Given the description of an element on the screen output the (x, y) to click on. 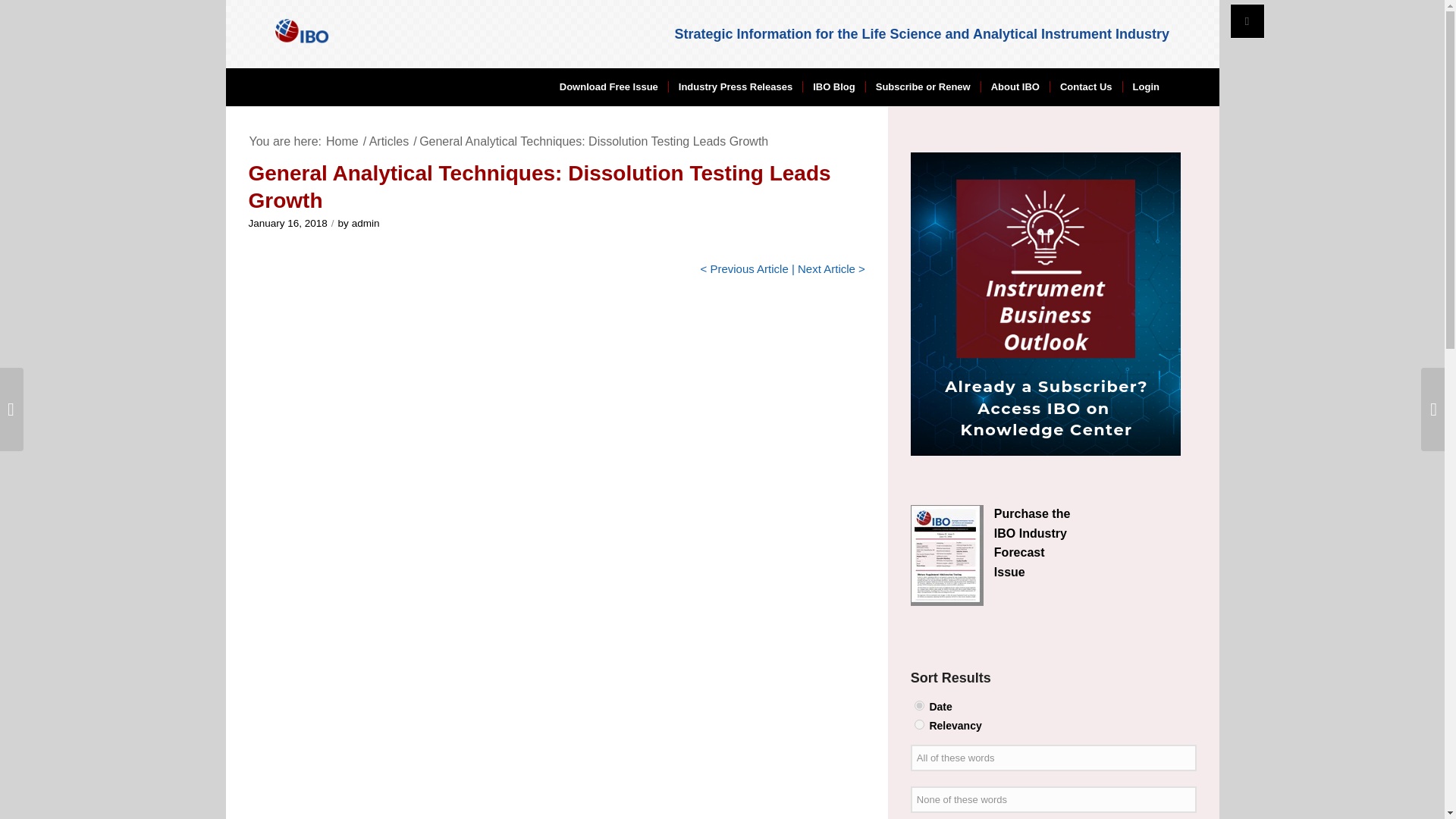
Articles (388, 141)
date (919, 705)
Industry Press Releases (735, 86)
Posts by admin (366, 223)
IBO (342, 141)
Next Article (826, 268)
Download Free Issue (609, 86)
Home (342, 141)
Previous Article (748, 268)
Subscribe or Renew (921, 86)
date (919, 705)
Articles (388, 141)
relevancy (919, 724)
IBO Blog (833, 86)
admin (366, 223)
